Given the description of an element on the screen output the (x, y) to click on. 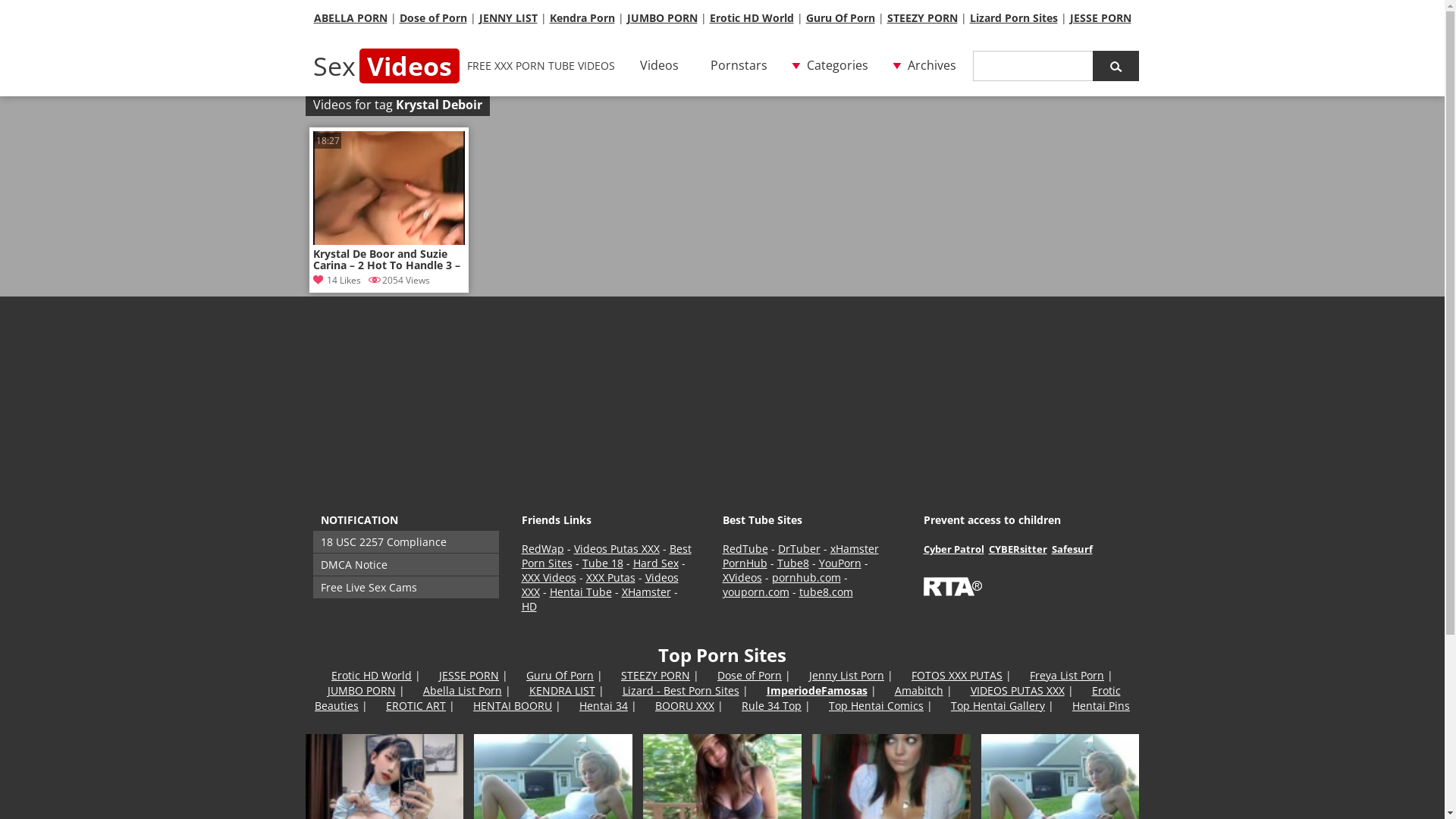
VIDEOS PUTAS XXX Element type: text (1017, 690)
CYBERsitter Element type: text (1017, 548)
XXX Videos Element type: text (548, 577)
Guru Of Porn Element type: text (839, 17)
FOTOS XXX PUTAS Element type: text (956, 675)
ImperiodeFamosas Element type: text (815, 690)
Tube 18 Element type: text (602, 562)
DMCA Notice Element type: text (405, 564)
JENNY LIST Element type: text (508, 17)
STEEZY PORN Element type: text (922, 17)
XVideos Element type: text (741, 577)
RedTube Element type: text (744, 548)
RedWap Element type: text (542, 548)
JUMBO PORN Element type: text (661, 17)
14 Likes Element type: text (336, 279)
Amabitch Element type: text (918, 690)
Erotic HD World Element type: text (751, 17)
tube8.com Element type: text (826, 591)
Free Live Sex Cams Element type: text (405, 587)
STEEZY PORN Element type: text (655, 675)
Erotic HD World Element type: text (371, 675)
Guru Of Porn Element type: text (559, 675)
XHamster Element type: text (646, 591)
SexVideos Element type: text (385, 65)
Erotic Beauties Element type: text (717, 697)
Top Hentai Comics Element type: text (875, 705)
Kendra Porn Element type: text (581, 17)
Safesurf Element type: text (1071, 548)
Hentai Pins Element type: text (1100, 705)
Hentai Tube Element type: text (580, 591)
Lizard Porn Sites Element type: text (1013, 17)
JUMBO PORN Element type: text (361, 690)
Videos Putas XXX Element type: text (615, 548)
Lizard - Best Porn Sites Element type: text (679, 690)
youporn.com Element type: text (754, 591)
Hentai 34 Element type: text (603, 705)
YouPorn Element type: text (840, 562)
PornHub Element type: text (743, 562)
Abella List Porn Element type: text (462, 690)
Pornstars Element type: text (737, 65)
XXX Putas Element type: text (609, 577)
HD Element type: text (528, 606)
BOORU XXX Element type: text (684, 705)
Rule 34 Top Element type: text (771, 705)
Tube8 Element type: text (792, 562)
JESSE PORN Element type: text (1099, 17)
Videos Element type: text (658, 65)
Jenny List Porn Element type: text (846, 675)
Best Porn Sites Element type: text (606, 555)
Top Hentai Gallery Element type: text (997, 705)
EROTIC ART Element type: text (415, 705)
xHamster Element type: text (853, 548)
ABELLA PORN Element type: text (350, 17)
Freya List Porn Element type: text (1066, 675)
Videos XXX Element type: text (599, 584)
18 USC 2257 Compliance Element type: text (405, 541)
Hard Sex Element type: text (654, 562)
pornhub.com Element type: text (805, 577)
Cyber Patrol Element type: text (953, 548)
DrTuber Element type: text (799, 548)
KENDRA LIST Element type: text (562, 690)
Dose of Porn Element type: text (749, 675)
JESSE PORN Element type: text (468, 675)
Dose of Porn Element type: text (432, 17)
HENTAI BOORU Element type: text (512, 705)
